Given the description of an element on the screen output the (x, y) to click on. 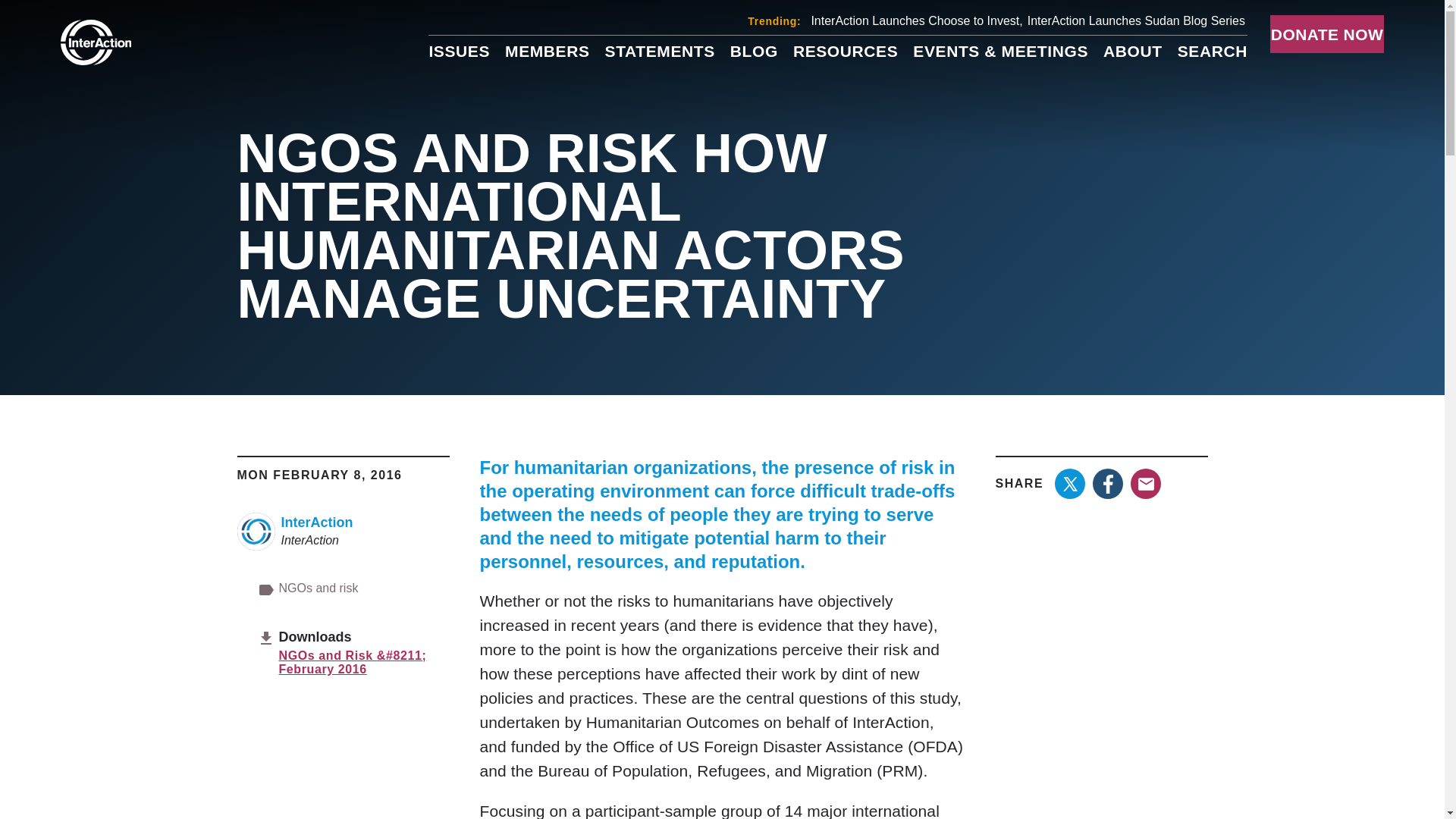
InterAction Launches Choose to Invest (916, 20)
ISSUES (458, 50)
InterAction Launches Sudan Blog Series (1135, 20)
